Given the description of an element on the screen output the (x, y) to click on. 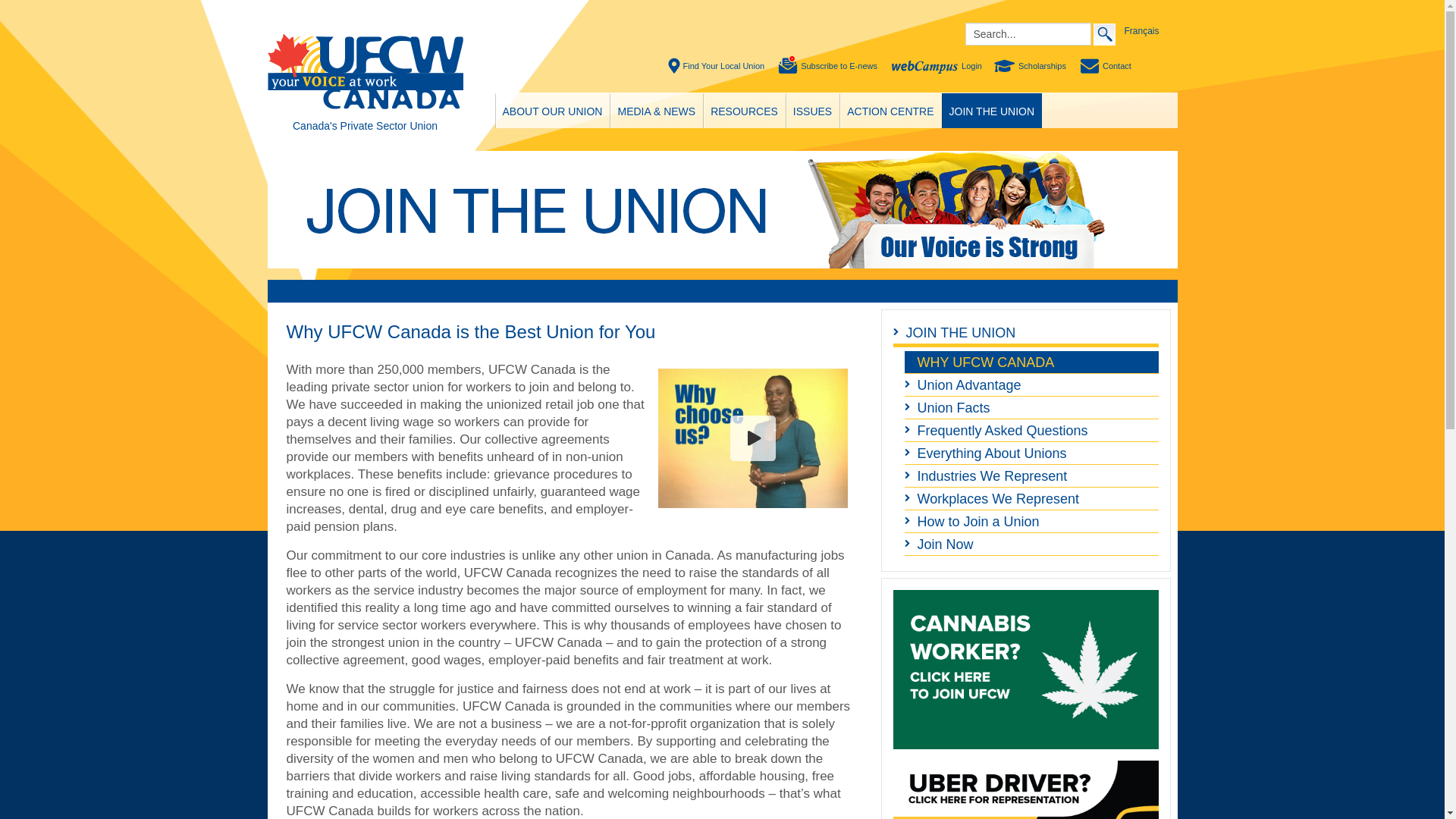
Join Now (1030, 544)
Search (1104, 33)
JOIN THE UNION (992, 110)
UFCW Canada-Union Logo (364, 72)
Find Your Local Union (716, 65)
Scholarships (1031, 65)
Industries We Represent (1030, 476)
Search... (1026, 33)
Subscribe to E-news (828, 65)
Union Facts (1030, 407)
How to Join a Union (1030, 521)
ISSUES (812, 110)
Search... (1026, 33)
Login (936, 65)
ABOUT OUR UNION (553, 110)
